Given the description of an element on the screen output the (x, y) to click on. 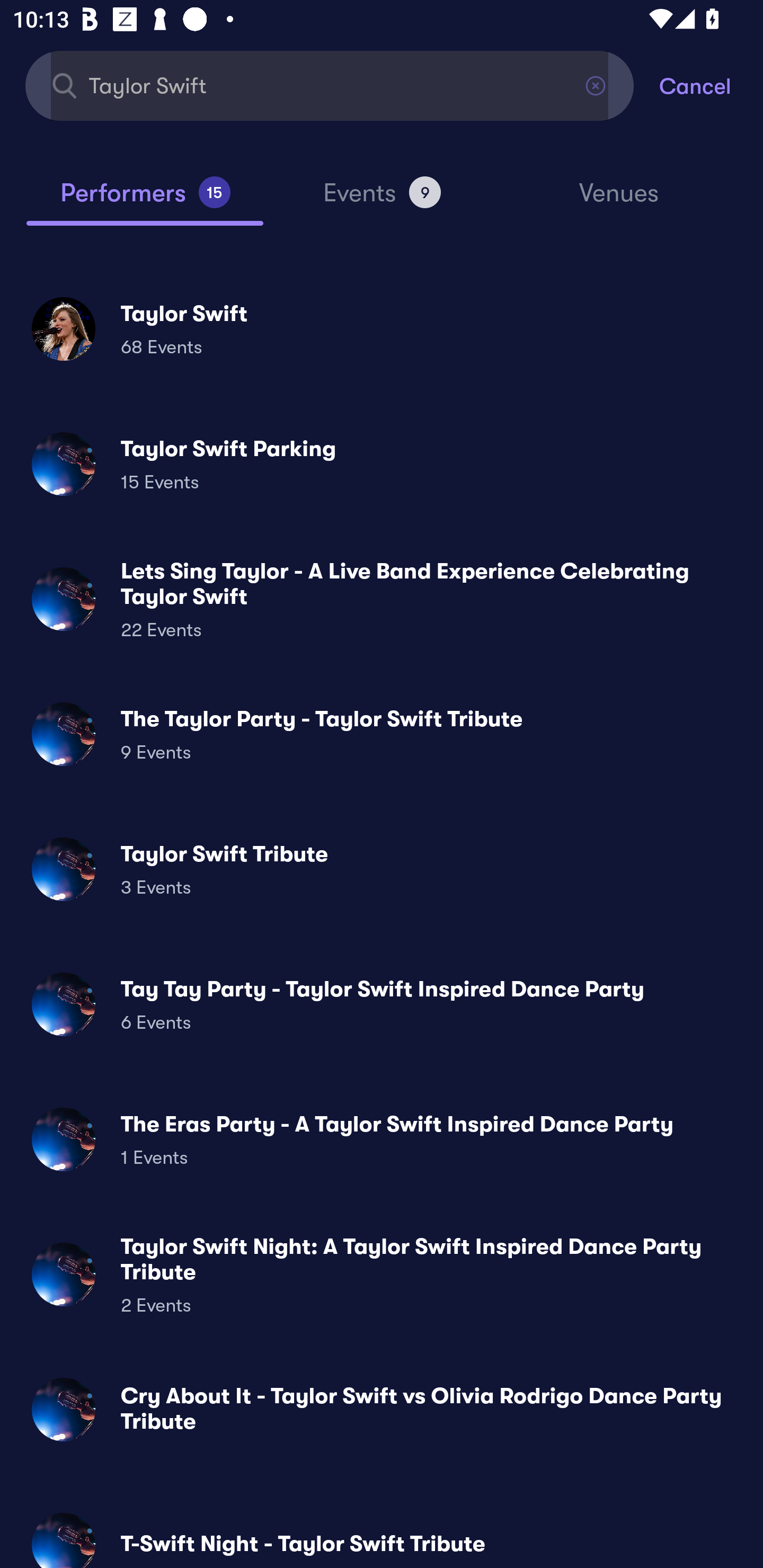
Taylor Swift Find (329, 85)
Taylor Swift Find (329, 85)
Cancel (711, 85)
Performers 15 (144, 200)
Events 9 (381, 200)
Venues (618, 201)
Taylor Swift 68 Events (381, 328)
Taylor Swift Parking 15 Events (381, 464)
The Taylor Party - Taylor Swift Tribute 9 Events (381, 734)
Taylor Swift Tribute 3 Events (381, 869)
T-Swift Night - Taylor Swift Tribute (381, 1532)
